Given the description of an element on the screen output the (x, y) to click on. 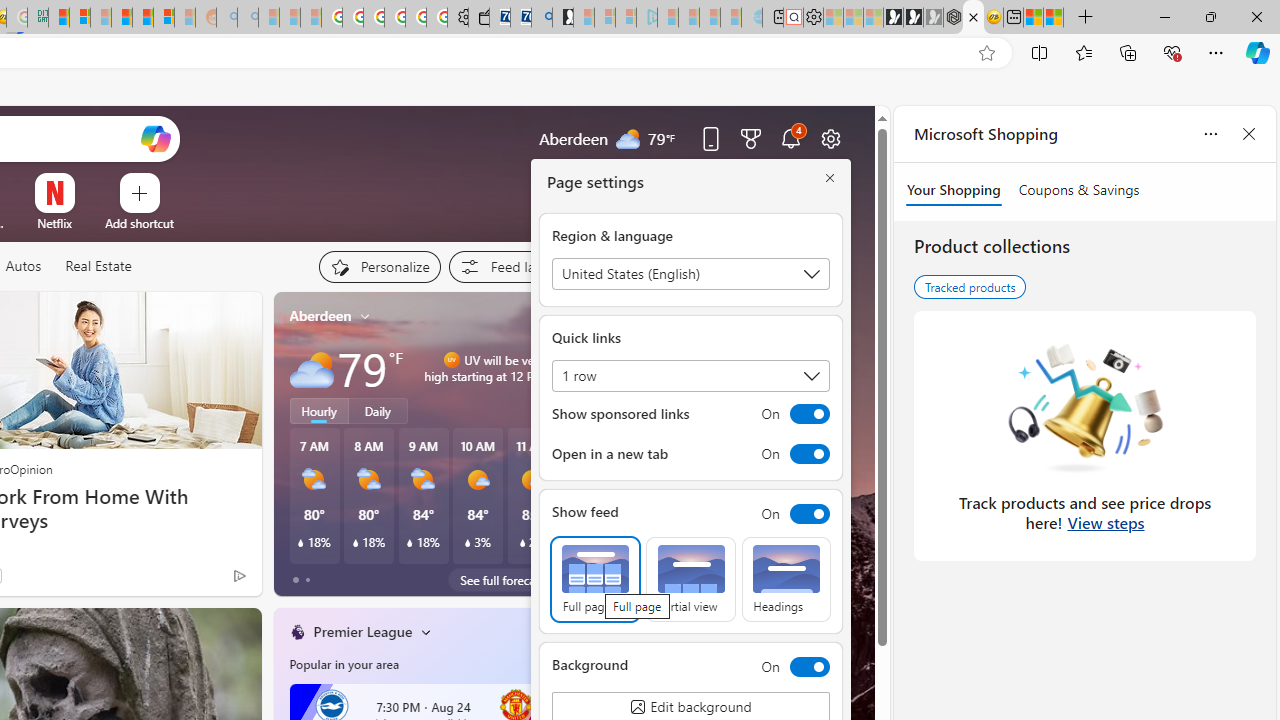
Wildlife - MSN (1033, 17)
Class: icon-img (543, 632)
Bing Real Estate - Home sales and rental listings (541, 17)
On (790, 666)
Class: weather-current-precipitation-glyph (522, 543)
Real Estate (97, 267)
Mostly cloudy (311, 368)
Microsoft rewards (750, 138)
